Given the description of an element on the screen output the (x, y) to click on. 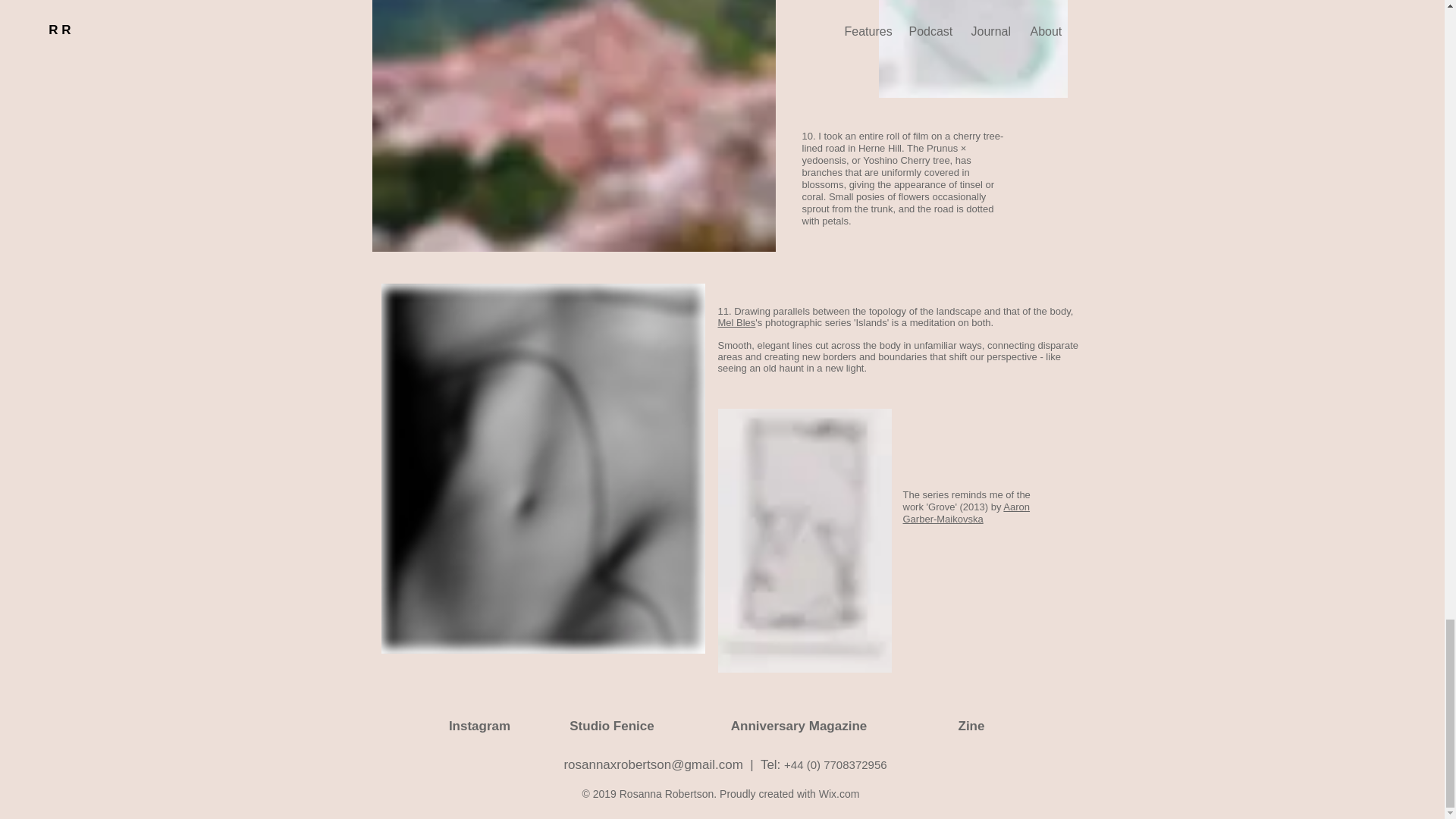
Studio Fenice (611, 725)
Zine (971, 725)
Aaron Garber-Maikovska (965, 512)
Anniversary Magazine (799, 725)
Instagram (478, 725)
Mel Bles (736, 322)
Wix.com (839, 793)
